Given the description of an element on the screen output the (x, y) to click on. 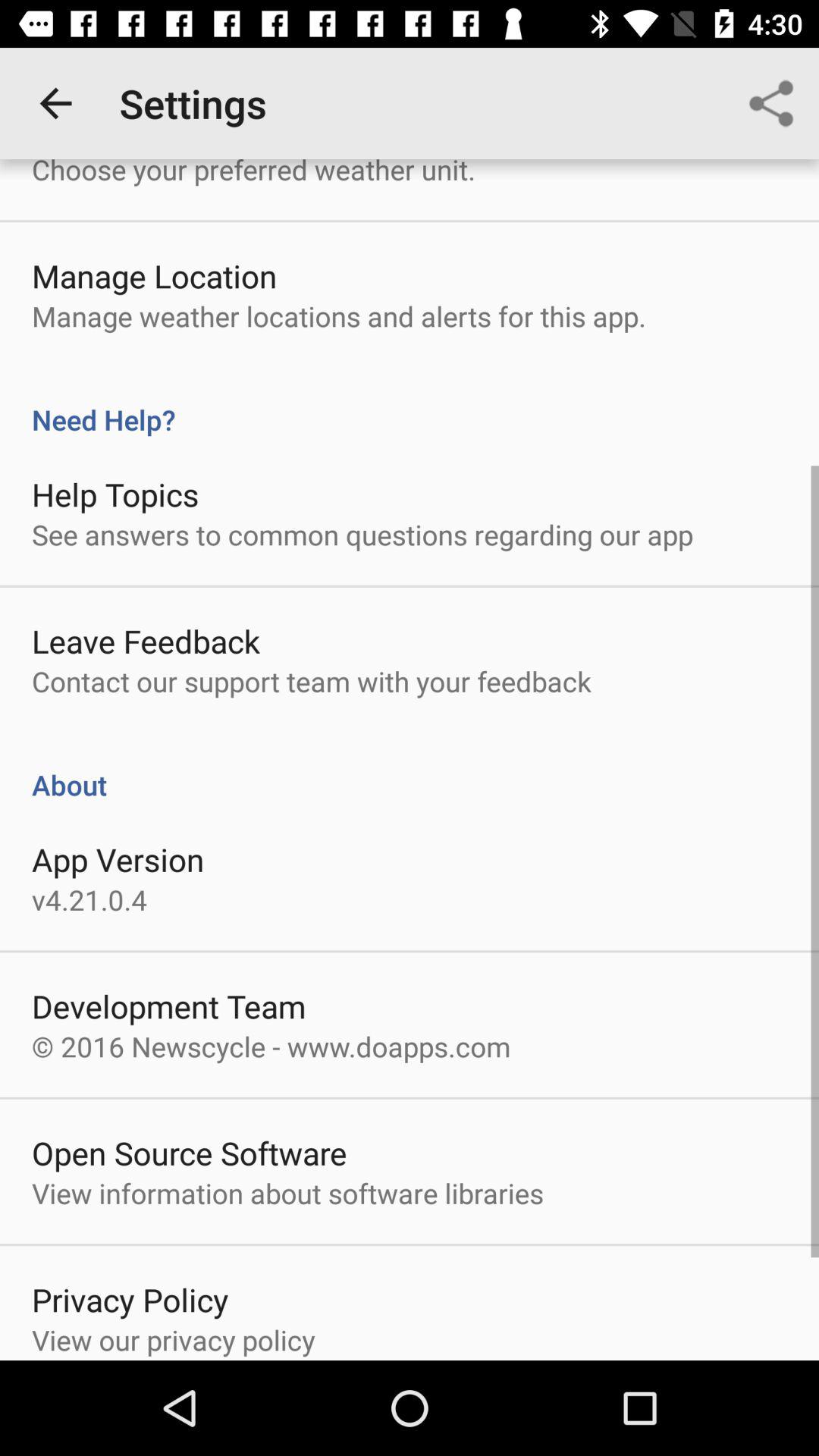
select the item above need help? icon (338, 315)
